Given the description of an element on the screen output the (x, y) to click on. 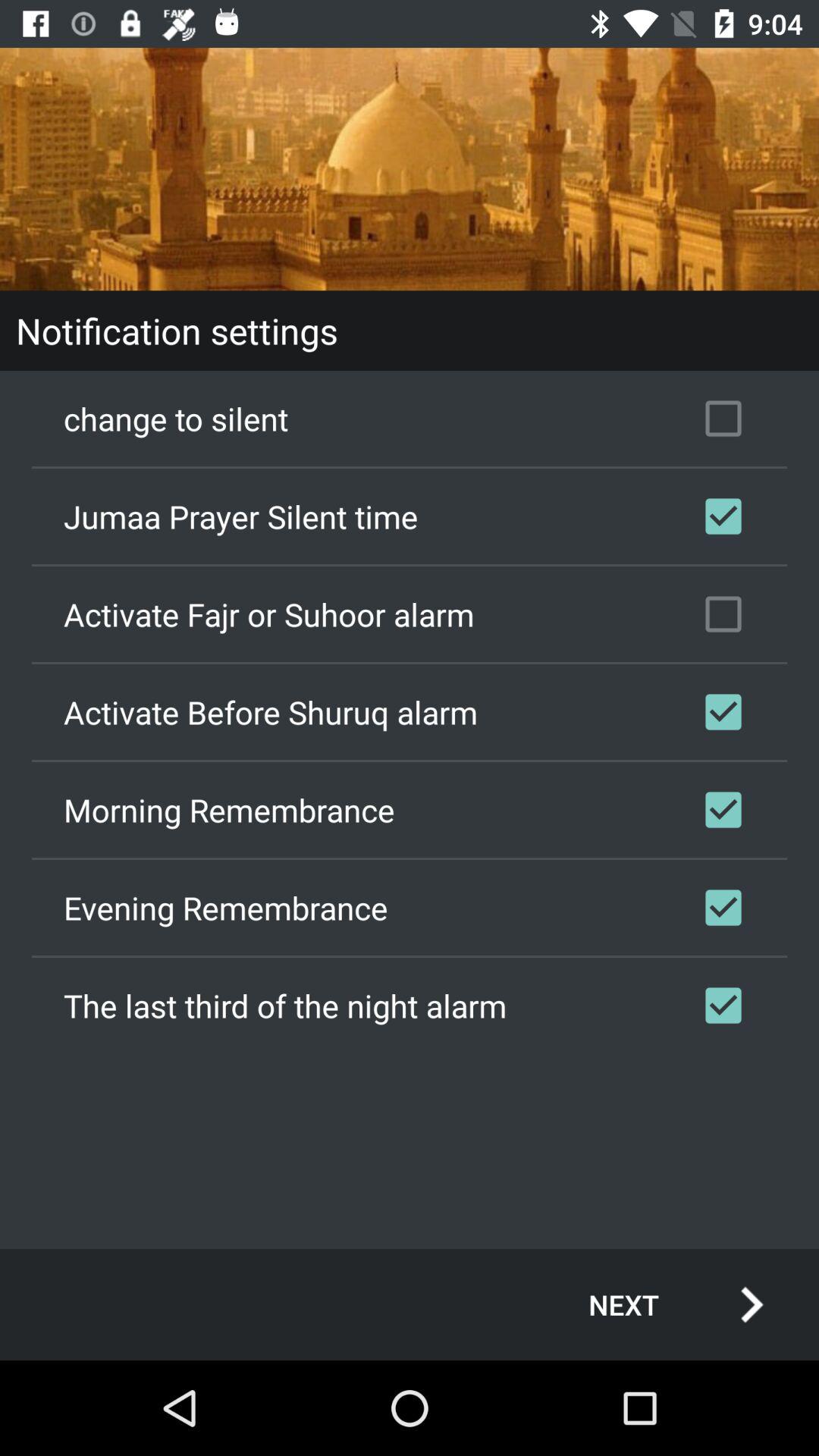
select the activate before shuruq icon (409, 711)
